Given the description of an element on the screen output the (x, y) to click on. 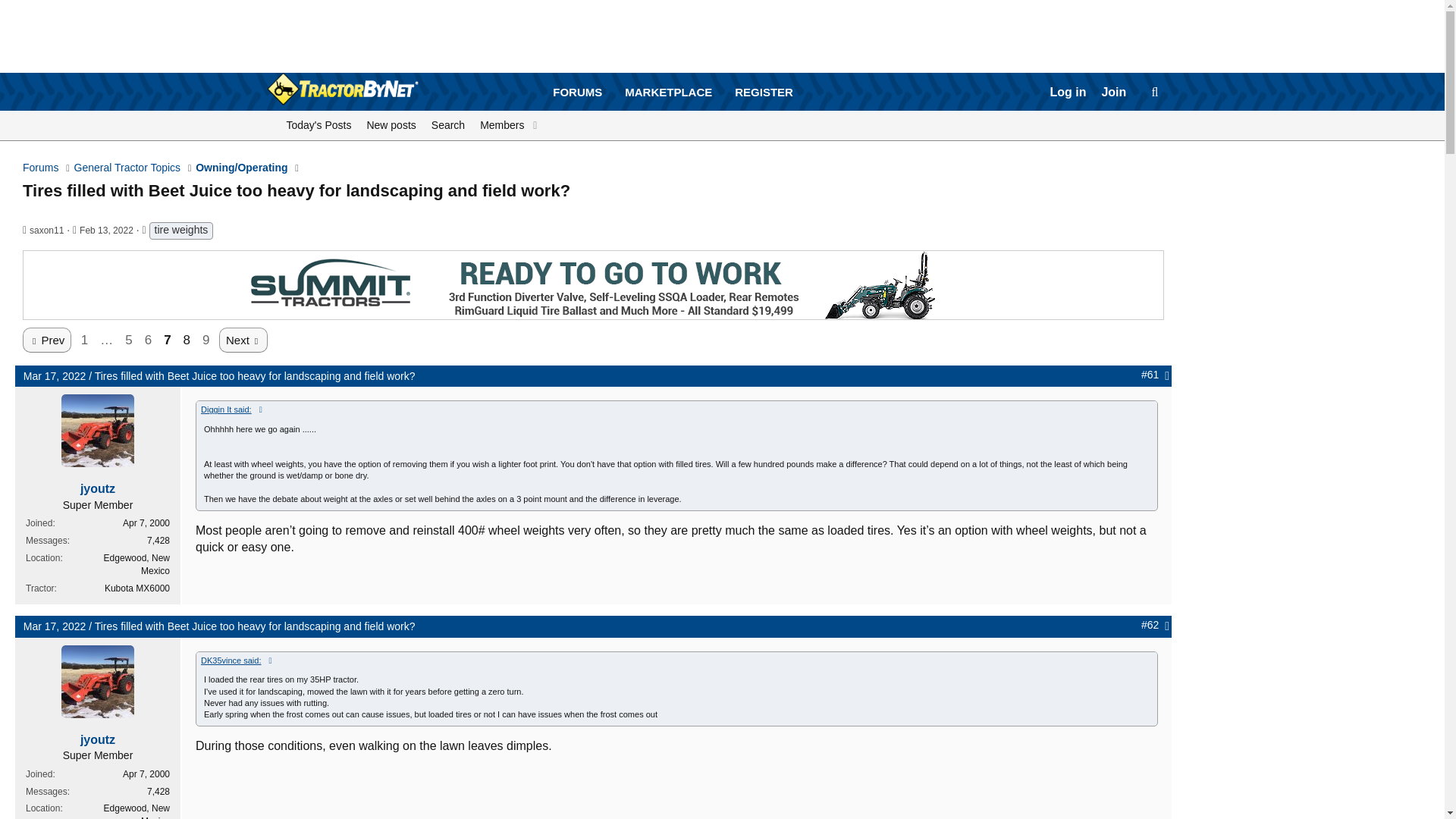
Forums (40, 167)
Feb 13, 2022 (673, 92)
New posts (106, 230)
Today's Posts (390, 125)
Feb 13, 2022 at 5:20 PM (319, 125)
Log in (106, 230)
saxon11 (1067, 92)
General Tractor Topics (46, 230)
Search (127, 167)
